Given the description of an element on the screen output the (x, y) to click on. 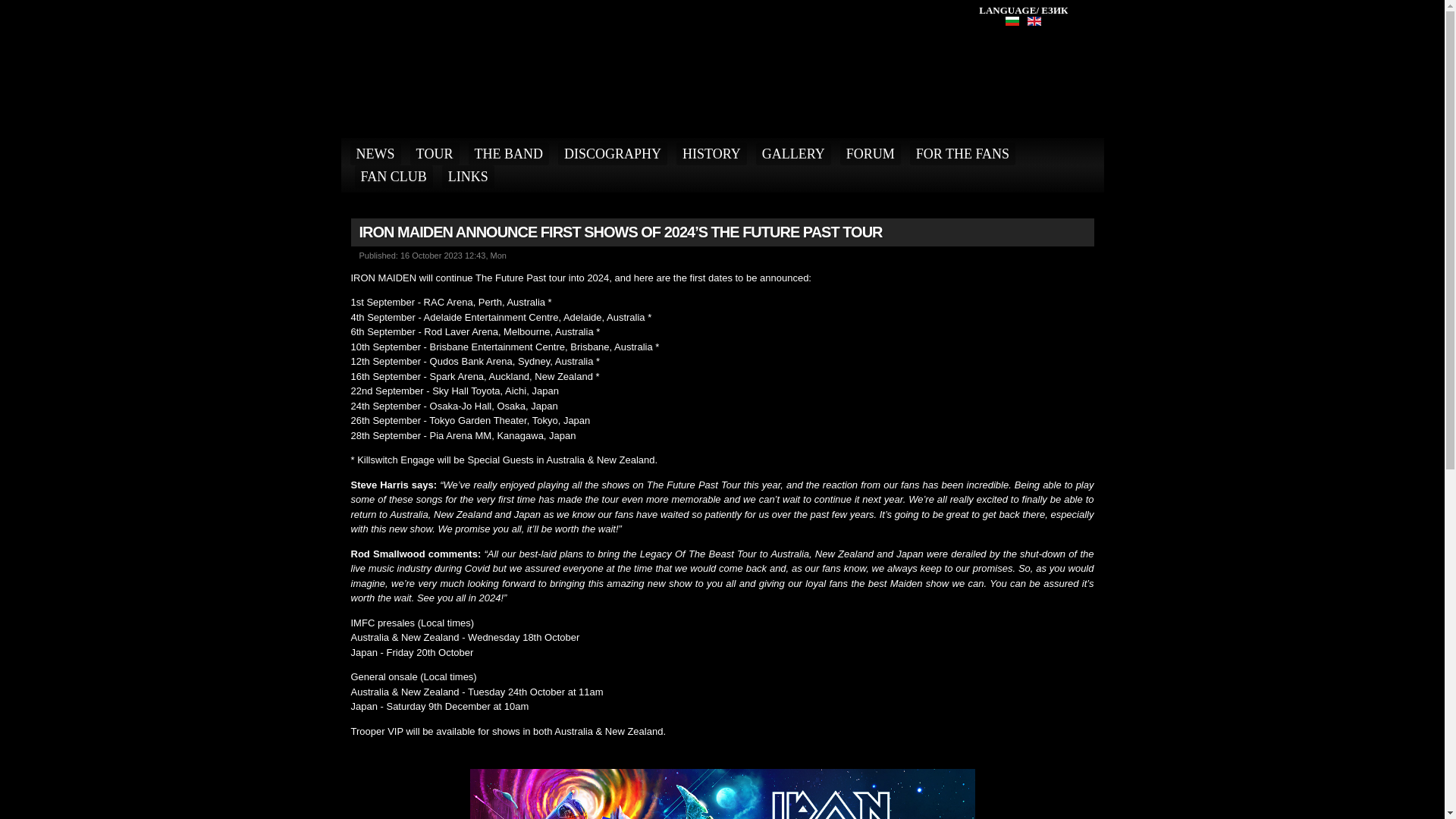
HISTORY (711, 153)
FAN CLUB (393, 176)
FORUM (870, 153)
GALLERY (793, 153)
FOR THE FANS (962, 153)
DISCOGRAPHY (611, 153)
NEWS (375, 153)
LINKS (468, 176)
THE BAND (509, 153)
